Given the description of an element on the screen output the (x, y) to click on. 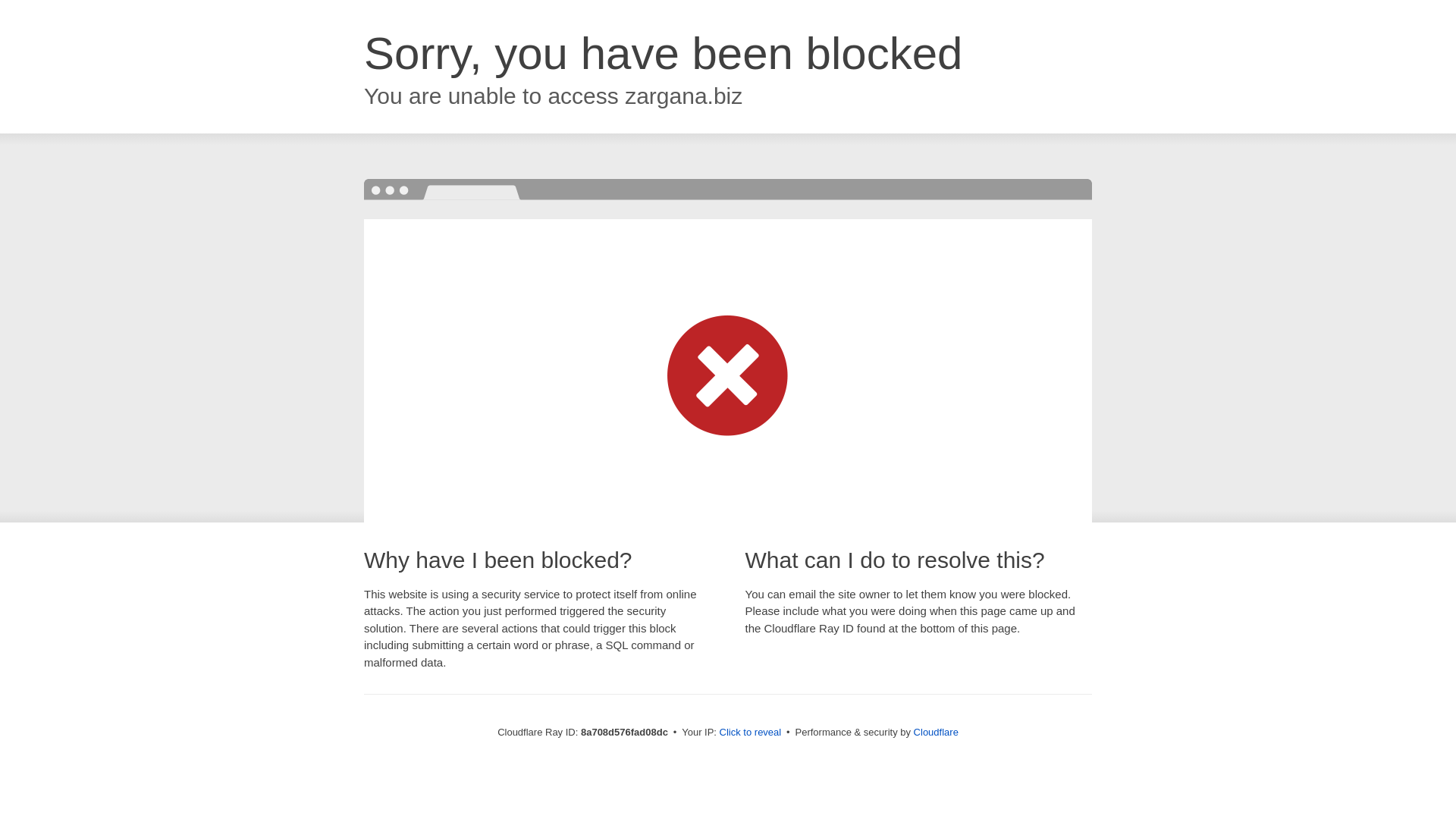
Cloudflare (936, 731)
Click to reveal (750, 732)
